Given the description of an element on the screen output the (x, y) to click on. 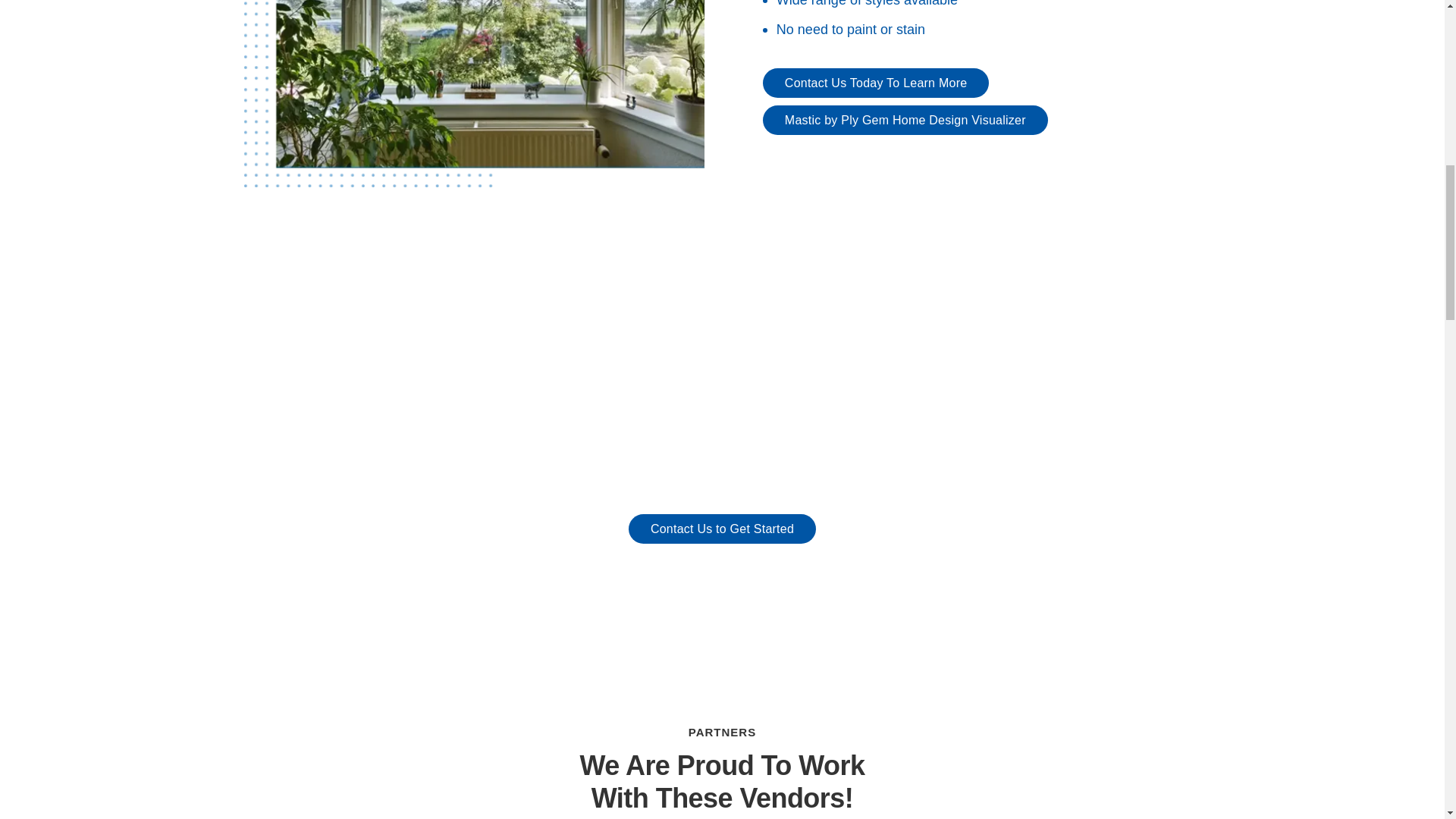
Mastic by Ply Gem Home Design Visualizer (905, 120)
Contact Us Today To Learn More (876, 82)
Contact Us to Get Started (721, 528)
WindowReplacement-img-01 (474, 93)
